Given the description of an element on the screen output the (x, y) to click on. 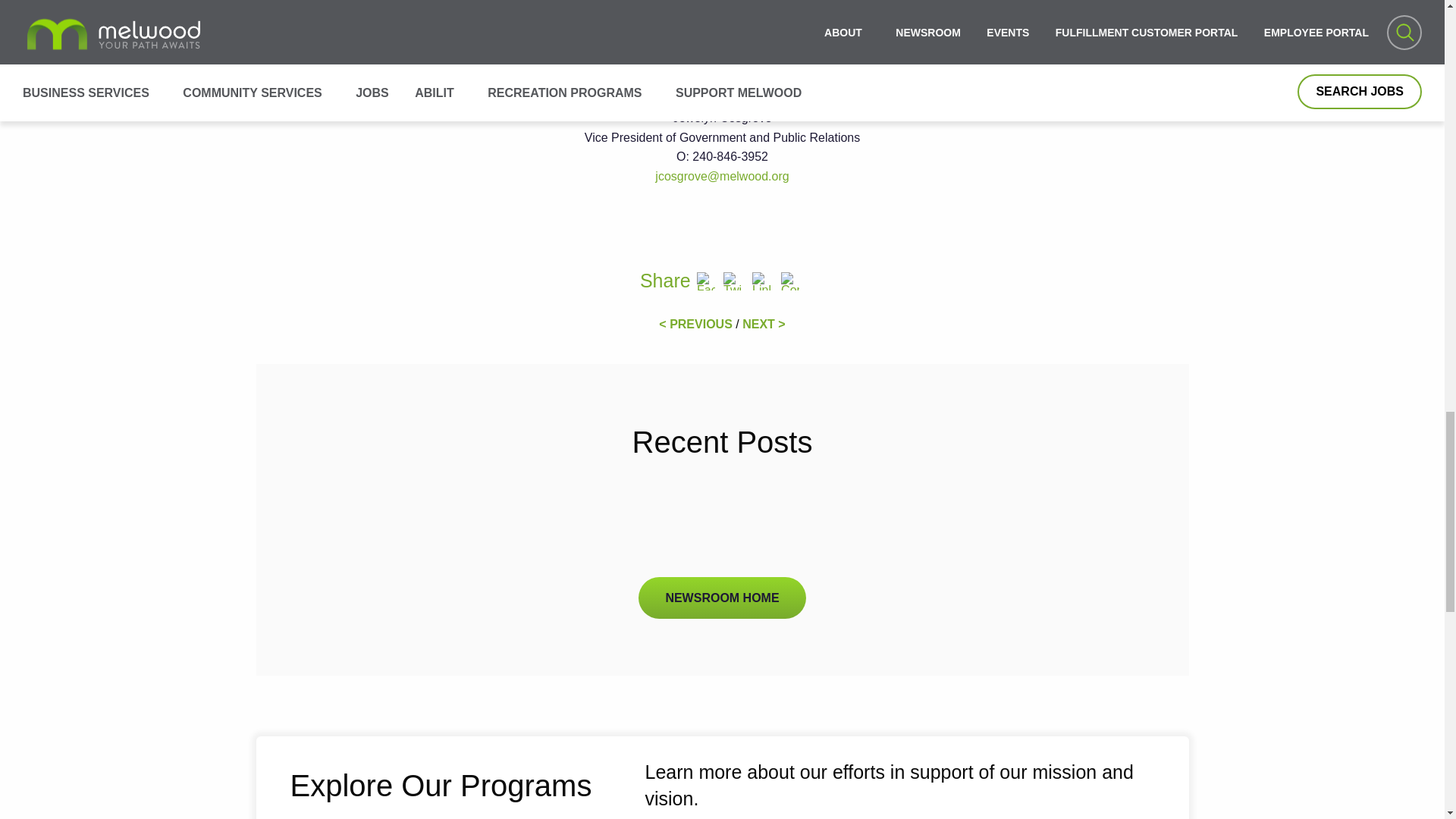
Copy Link (789, 281)
Twitter (732, 281)
Facebook (705, 281)
LinkedIn (761, 281)
